Given the description of an element on the screen output the (x, y) to click on. 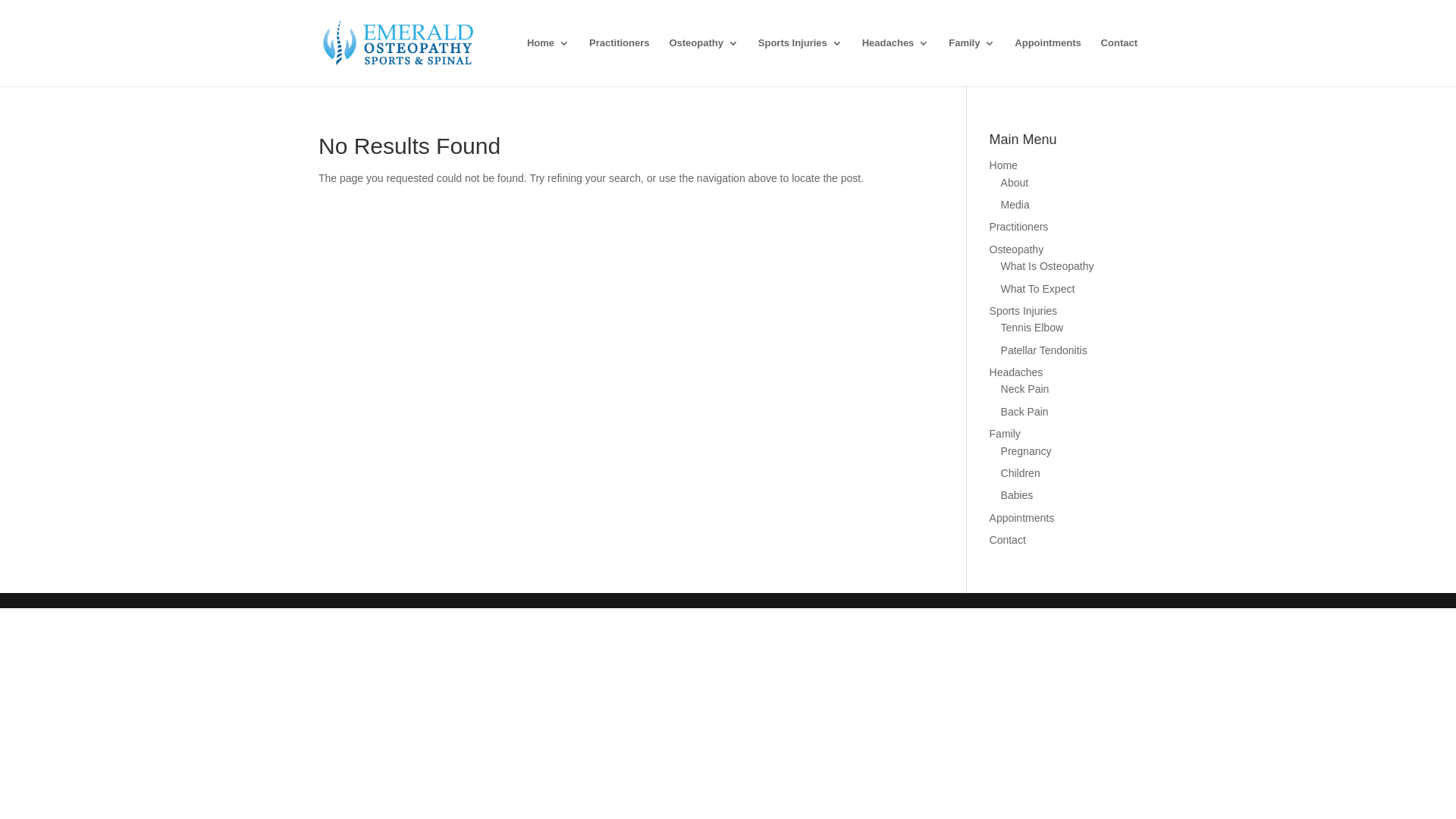
Home Element type: text (1003, 165)
Home Element type: text (548, 61)
Family Element type: text (971, 61)
Sports Injuries Element type: text (800, 61)
Headaches Element type: text (1016, 372)
Babies Element type: text (1017, 495)
Headaches Element type: text (895, 61)
Practitioners Element type: text (1018, 226)
Pregnancy Element type: text (1026, 451)
Family Element type: text (1004, 433)
Sports Injuries Element type: text (1023, 310)
Neck Pain Element type: text (1025, 388)
Appointments Element type: text (1047, 61)
Contact Element type: text (1119, 61)
Patellar Tendonitis Element type: text (1044, 350)
Appointments Element type: text (1021, 517)
Practitioners Element type: text (619, 61)
Back Pain Element type: text (1024, 411)
What To Expect Element type: text (1038, 288)
Media Element type: text (1015, 204)
Osteopathy Element type: text (703, 61)
Tennis Elbow Element type: text (1032, 327)
What Is Osteopathy Element type: text (1047, 266)
Osteopathy Element type: text (1016, 249)
Contact Element type: text (1007, 539)
Children Element type: text (1020, 473)
About Element type: text (1015, 182)
